Given the description of an element on the screen output the (x, y) to click on. 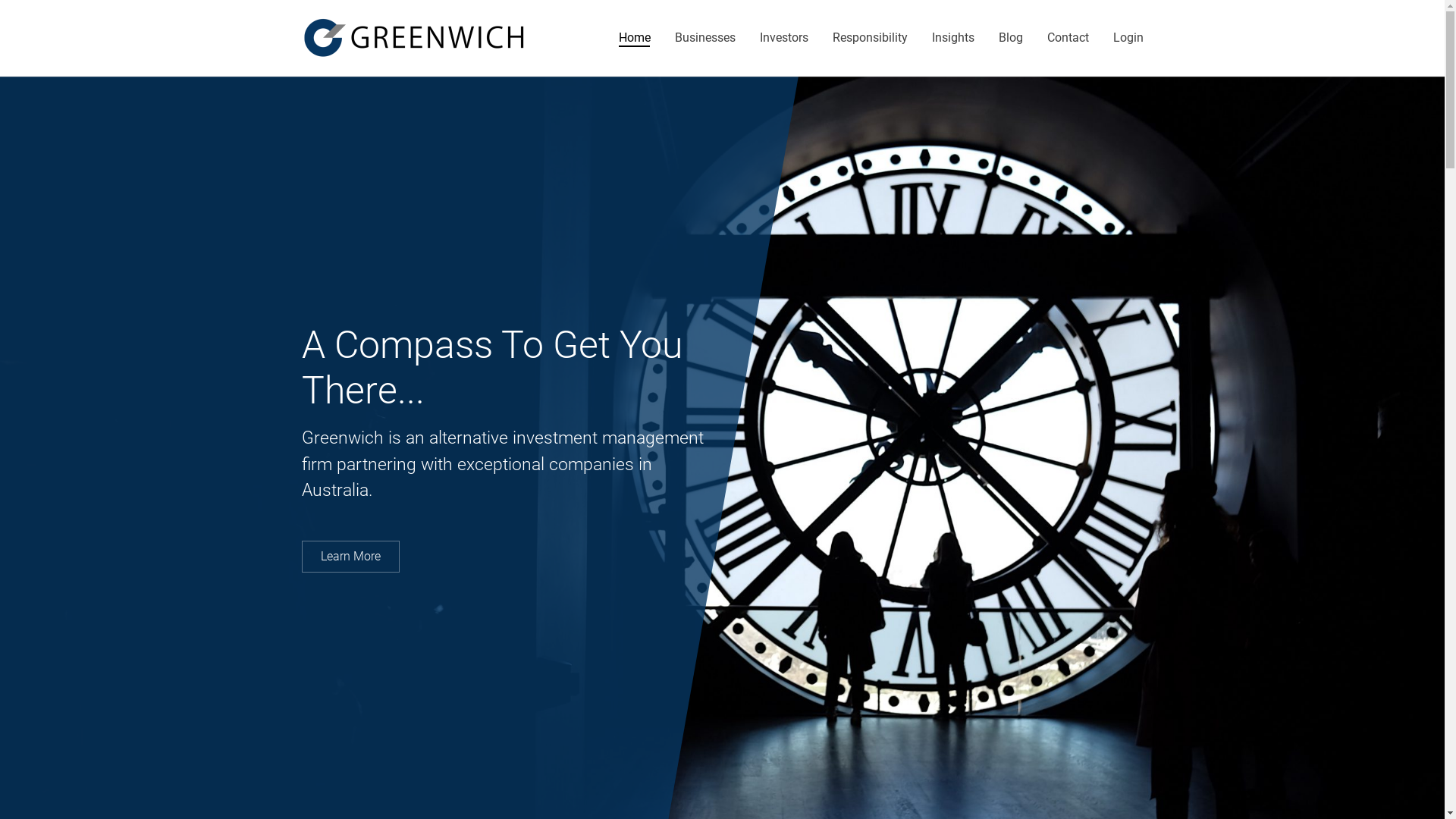
Investors Element type: text (783, 37)
Blog Element type: text (1009, 37)
Contact Element type: text (1067, 37)
Home Element type: text (634, 37)
Insights Element type: text (952, 37)
Learn More Element type: text (350, 556)
Login Element type: text (1128, 37)
Responsibility Element type: text (869, 37)
Businesses Element type: text (704, 37)
